Given the description of an element on the screen output the (x, y) to click on. 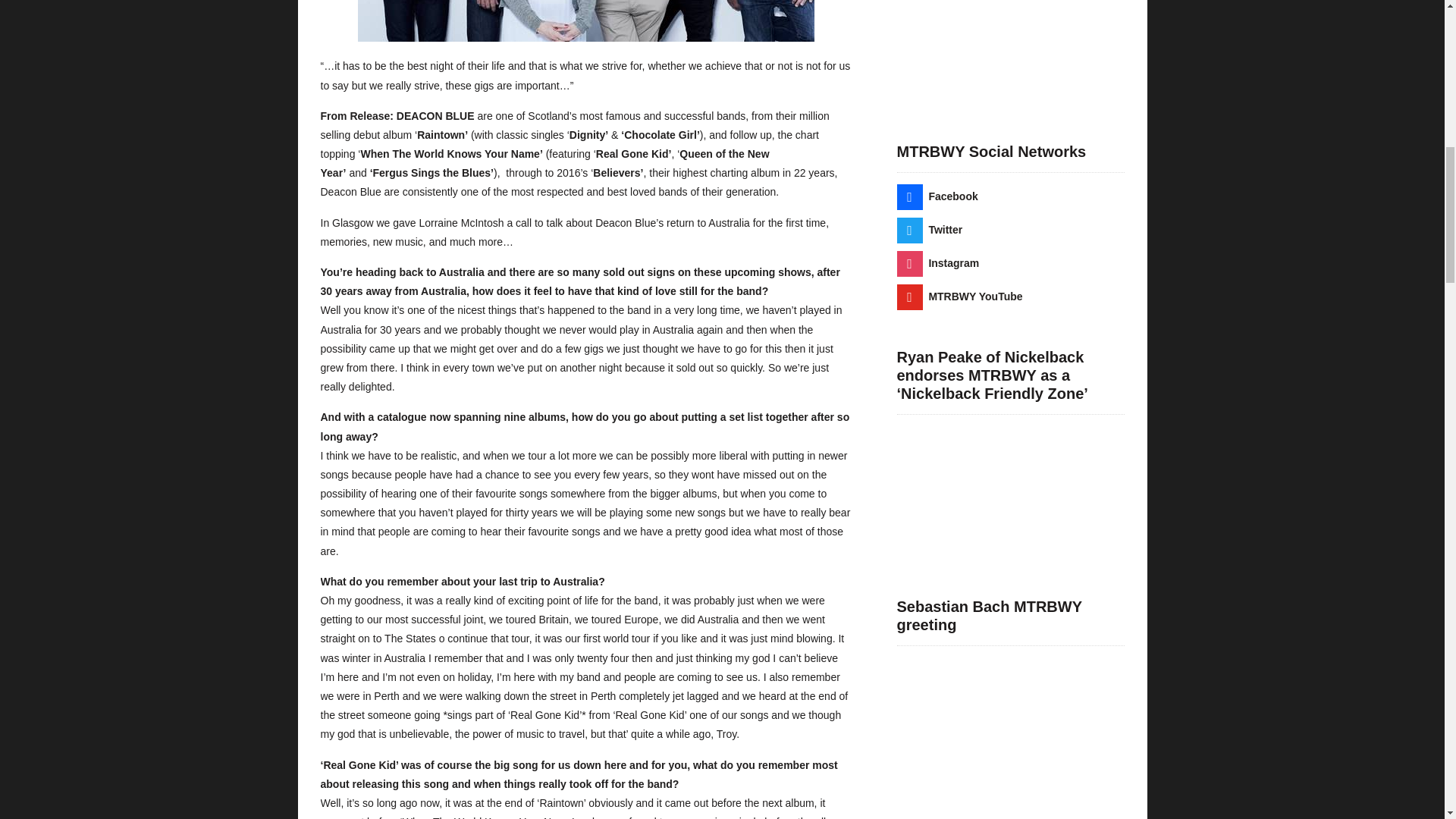
Twitter (929, 229)
YouTube video player (1010, 49)
Instagram (937, 263)
Facebook (936, 196)
MTRBWY YouTube (959, 296)
